Given the description of an element on the screen output the (x, y) to click on. 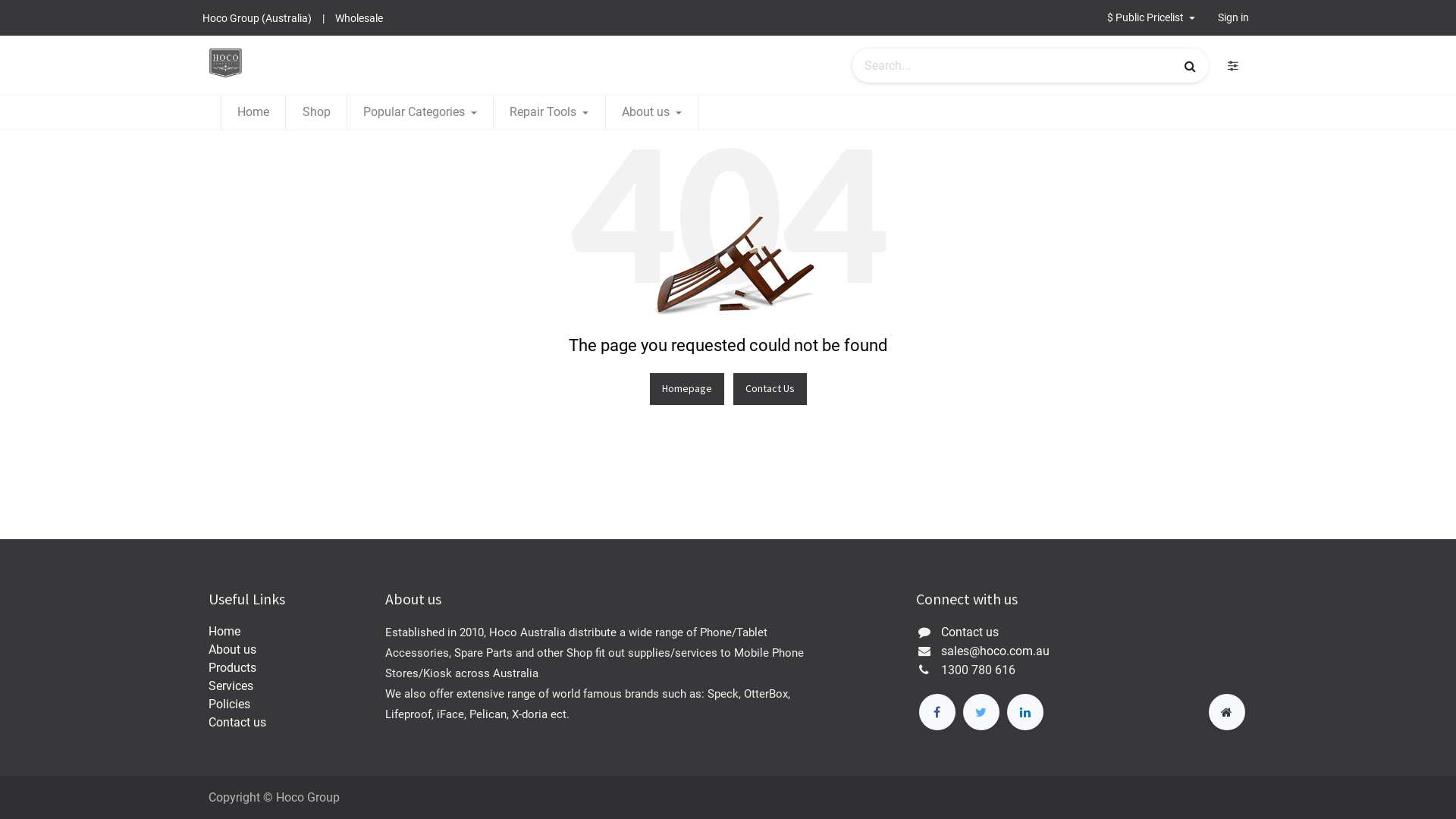
Policies Element type: text (229, 703)
HOCO AU | Wholesale Element type: hover (225, 62)
About us Element type: text (651, 112)
Contact Us Element type: text (769, 187)
sales@hoco.com.au Element type: text (995, 650)
$ Public Pricelist Element type: text (1150, 17)
Contact us Element type: text (237, 722)
Sign in Element type: text (1233, 17)
Search Element type: hover (1190, 65)
Repair Tools Element type: text (548, 112)
Homepage Element type: text (686, 187)
Products Element type: text (232, 667)
Popular Categories Element type: text (419, 112)
Home Element type: text (224, 631)
Services Element type: text (230, 685)
About us Element type: text (232, 649)
Shop Element type: text (315, 112)
Home Element type: text (253, 112)
Contact us Element type: text (969, 631)
